Given the description of an element on the screen output the (x, y) to click on. 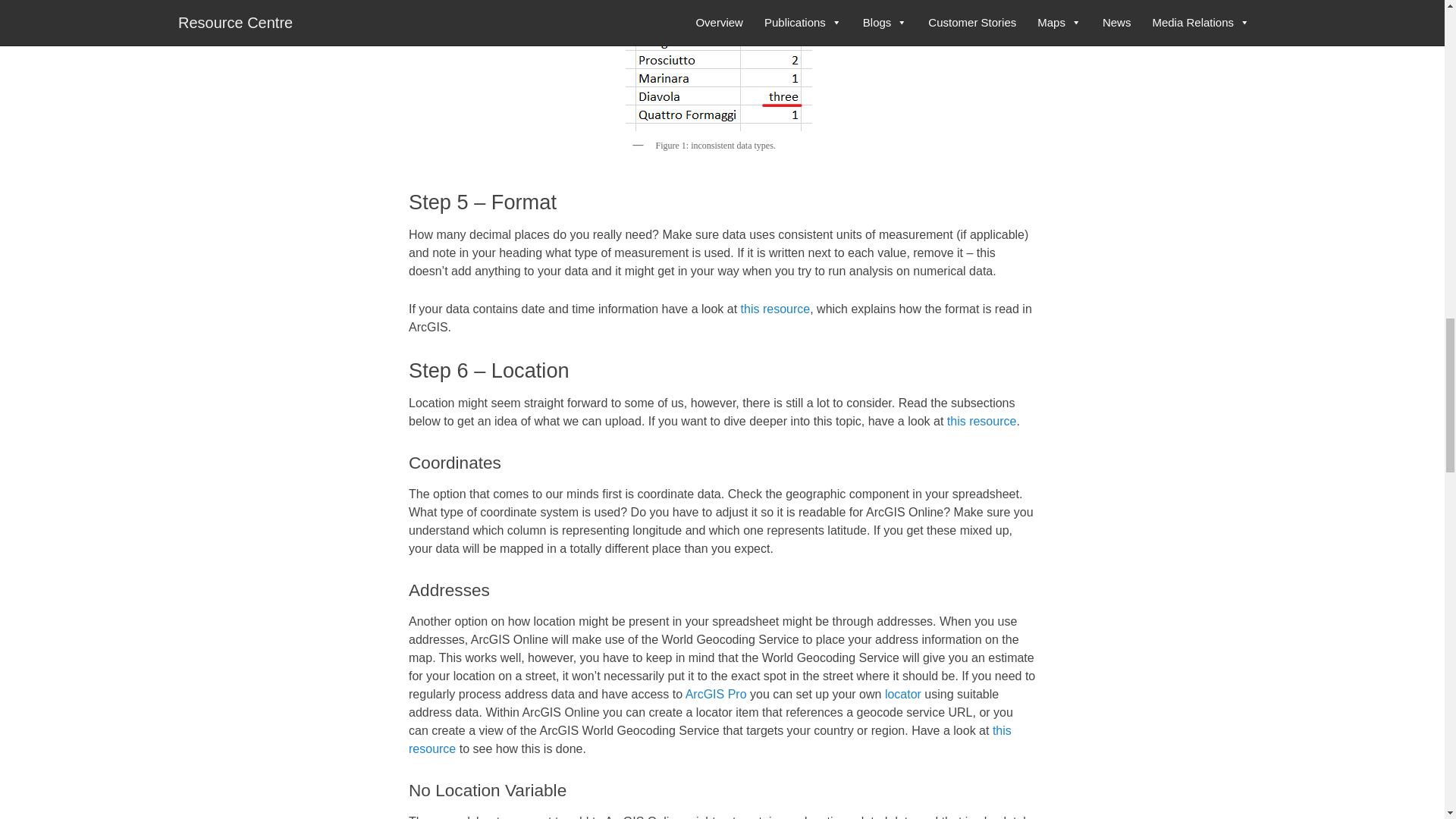
this resource (981, 420)
ArcGIS Pro (715, 694)
locator (903, 694)
this resource (775, 308)
this resource (710, 739)
